Given the description of an element on the screen output the (x, y) to click on. 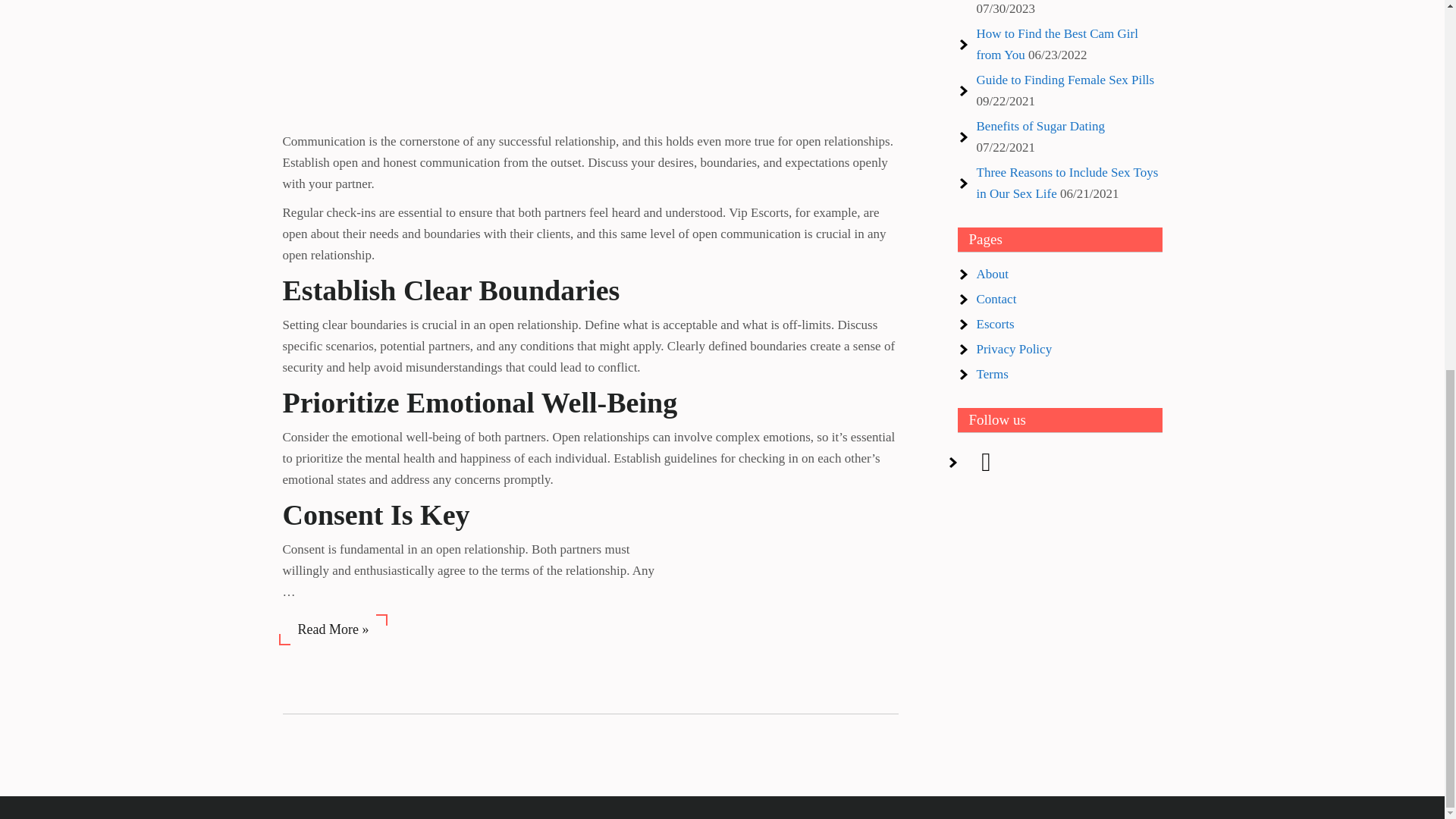
Benefits of Sugar Dating (1040, 125)
Terms (992, 373)
Contact (996, 298)
Three Reasons to Include Sex Toys in Our Sex Life (1067, 182)
Privacy Policy (1014, 349)
x (986, 461)
About (992, 273)
Escorts (995, 323)
Guide to Finding Female Sex Pills (1065, 79)
Follow Me (986, 461)
How to Find the Best Cam Girl from You (1057, 44)
